Given the description of an element on the screen output the (x, y) to click on. 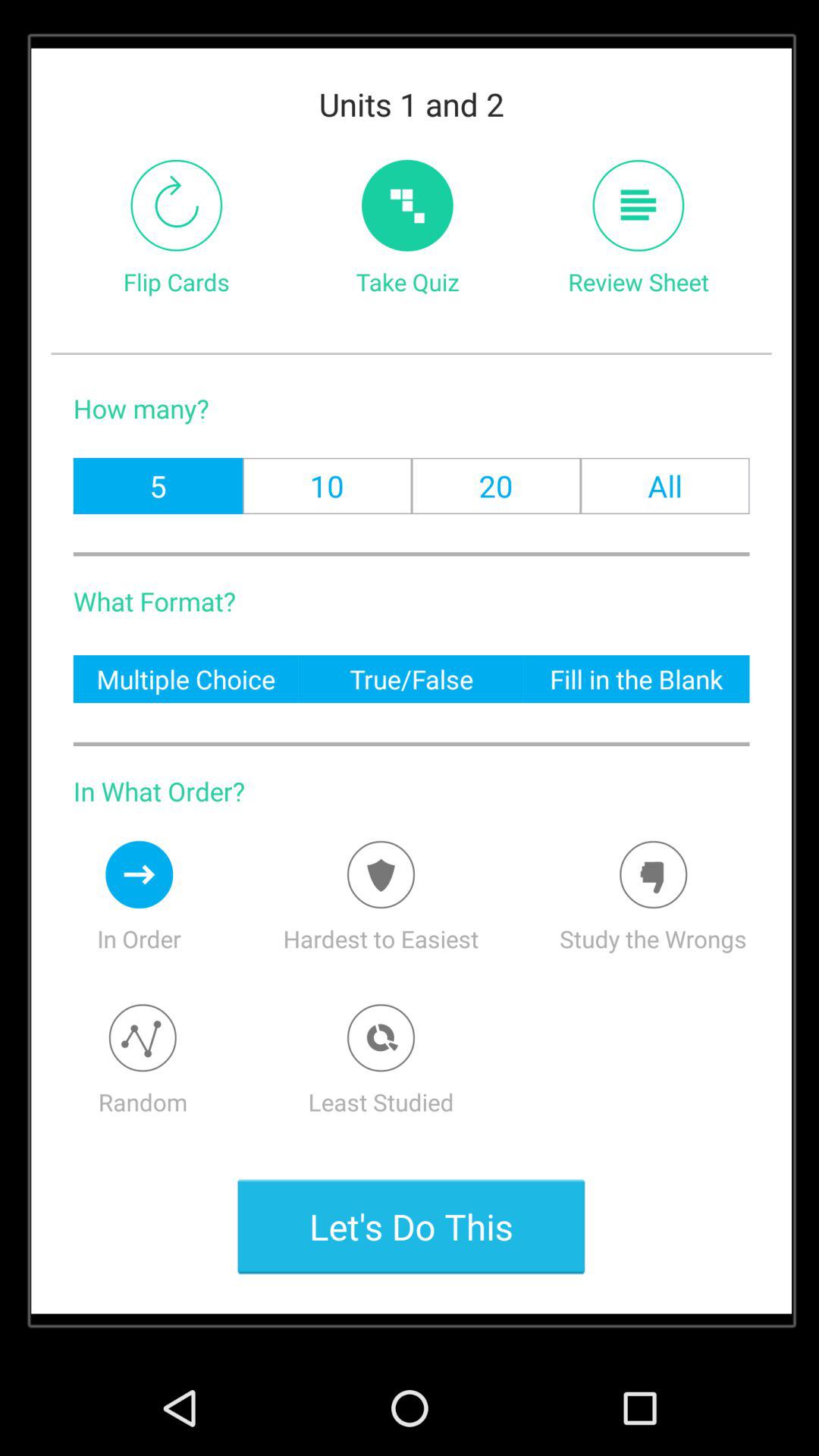
hardest to easiest (380, 874)
